Given the description of an element on the screen output the (x, y) to click on. 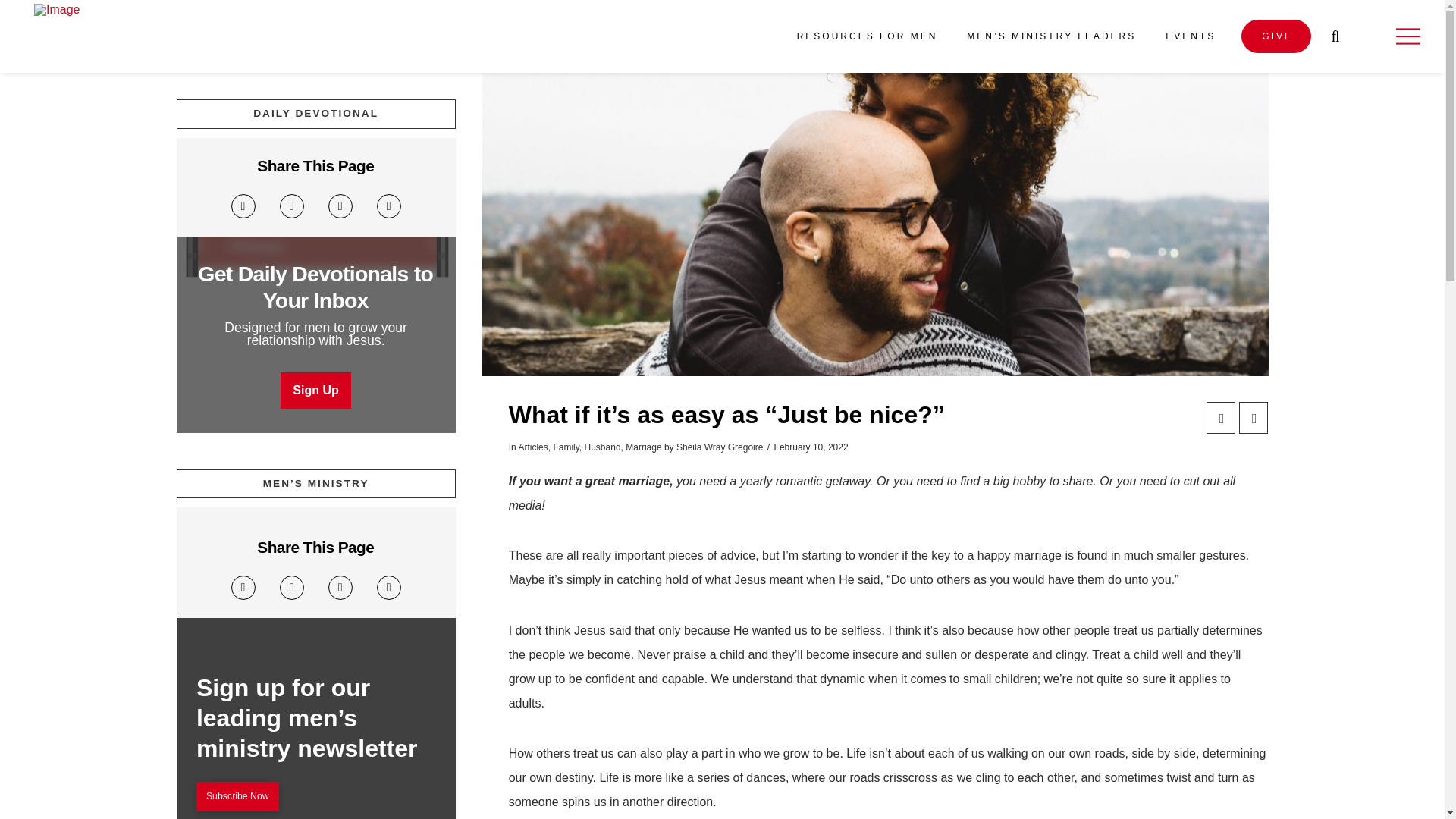
EVENTS (1189, 36)
Husband (603, 447)
Sheila Wray Gregoire (719, 447)
Articles (532, 447)
Family (565, 447)
GIVE (1276, 36)
RESOURCES FOR MEN (866, 36)
Marriage (643, 447)
